Given the description of an element on the screen output the (x, y) to click on. 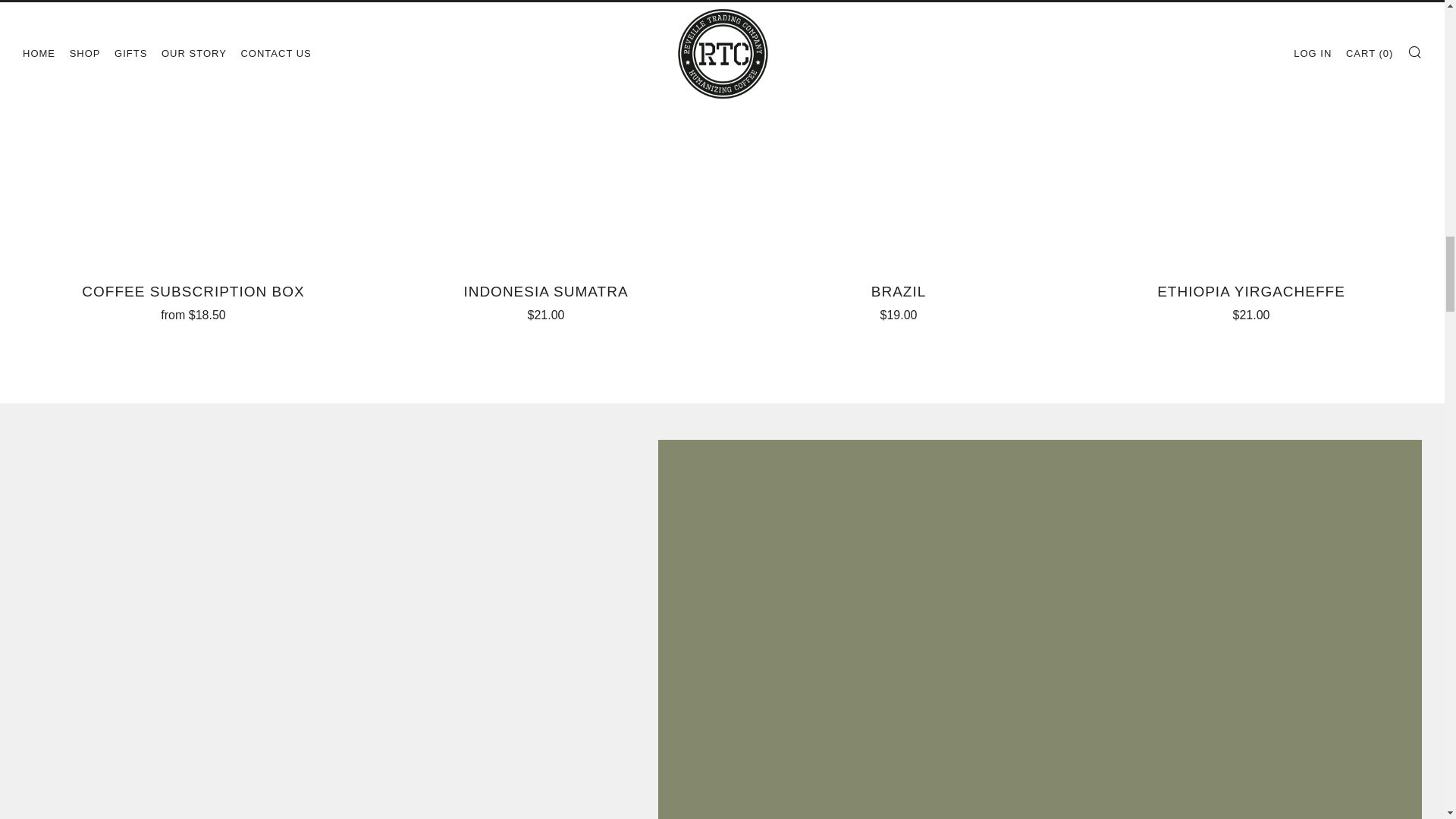
Coffee Subscription Box (193, 300)
Brazil (898, 300)
Ethiopia Yirgacheffe (1251, 300)
Indonesia Sumatra (545, 300)
